Given the description of an element on the screen output the (x, y) to click on. 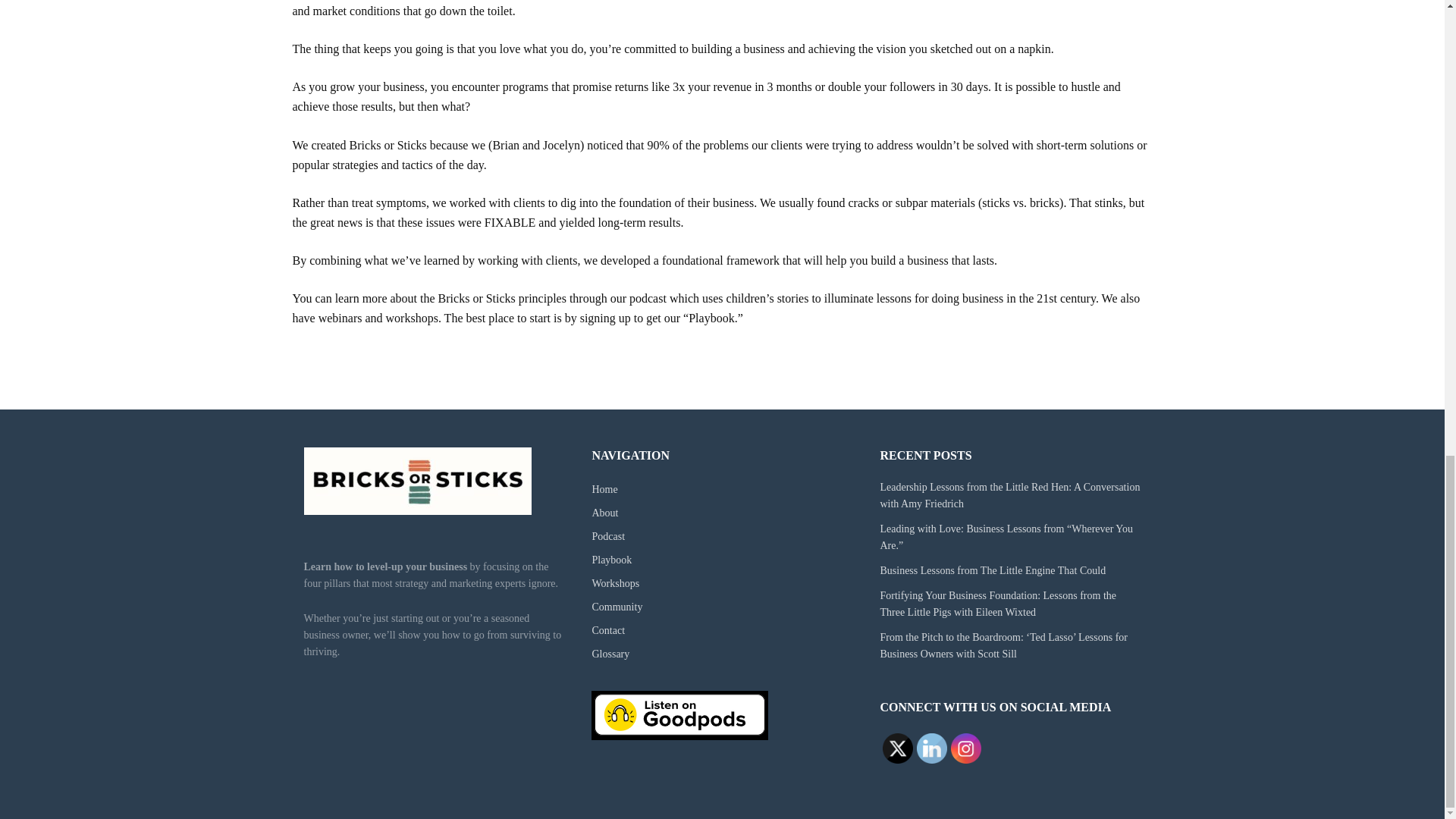
Podcast (607, 536)
Instagram (965, 748)
Home (604, 489)
LinkedIn (932, 748)
Workshops (615, 583)
Twitter (897, 748)
Playbook (611, 559)
About (604, 512)
Community (616, 606)
